Given the description of an element on the screen output the (x, y) to click on. 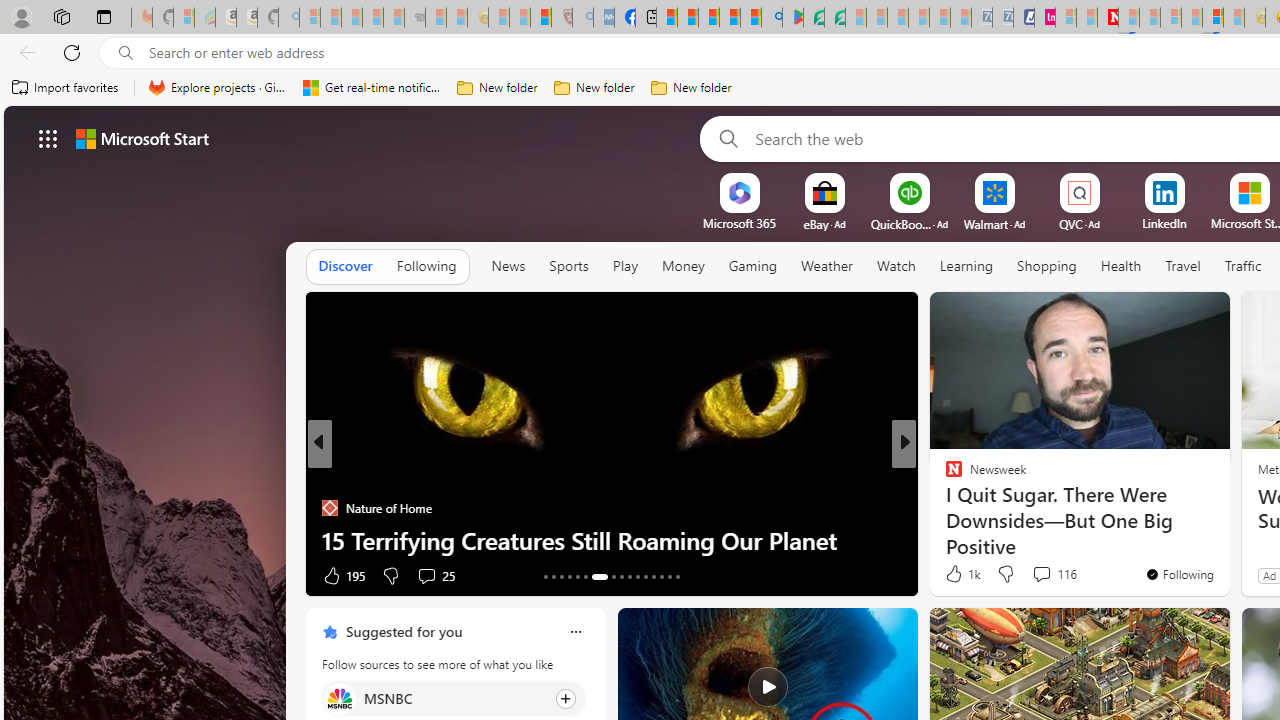
Start the conversation (1036, 575)
View comments 48 Comment (1042, 575)
Import favorites (65, 88)
Travel (1183, 265)
Gaming (752, 265)
Sports (568, 265)
Body Network (944, 507)
Robert H. Shmerling, MD - Harvard Health - Sleeping (561, 17)
Play (625, 267)
AutomationID: tab-15 (560, 576)
